Given the description of an element on the screen output the (x, y) to click on. 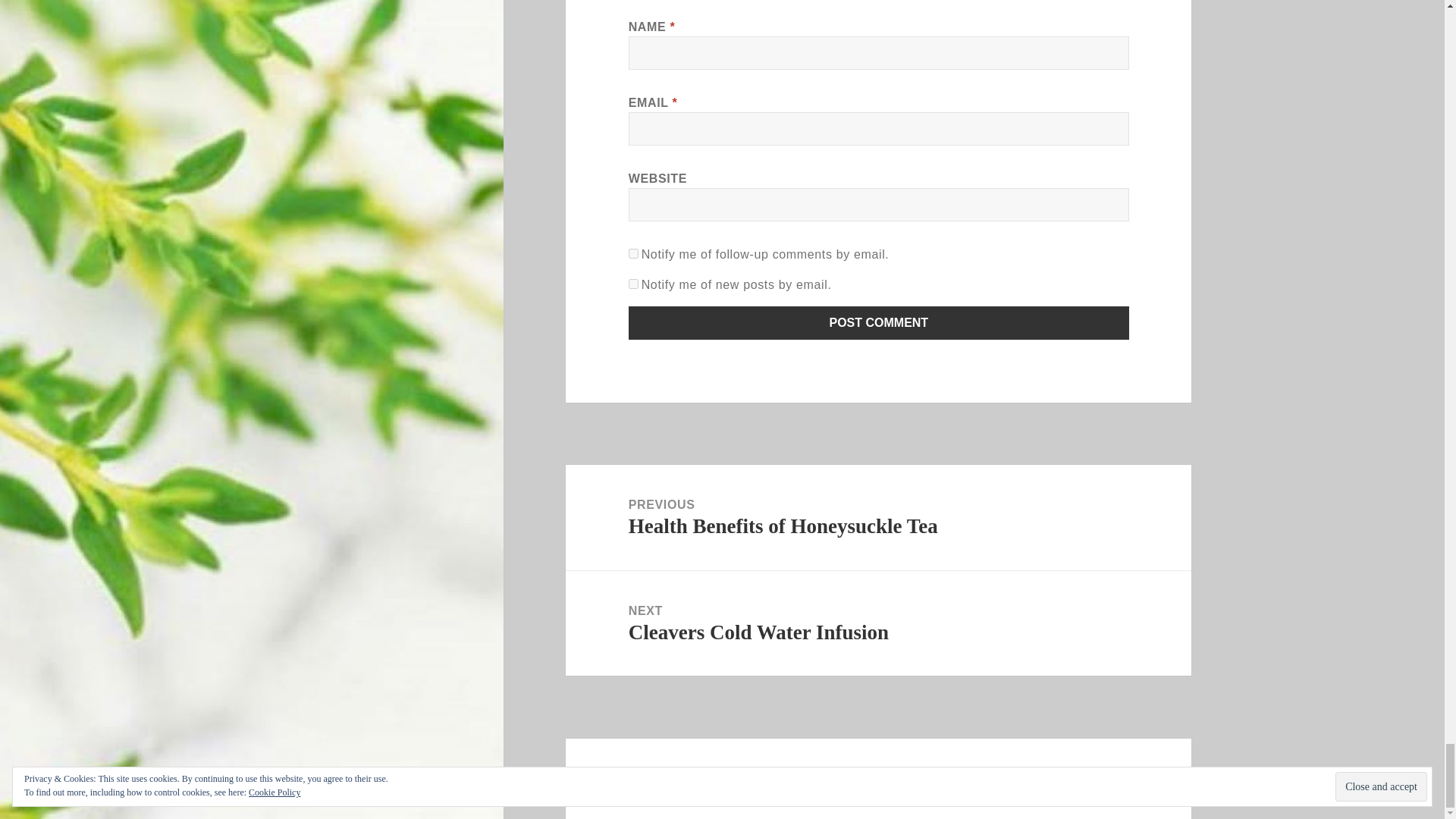
subscribe (633, 284)
Post Comment (878, 322)
subscribe (633, 253)
